Given the description of an element on the screen output the (x, y) to click on. 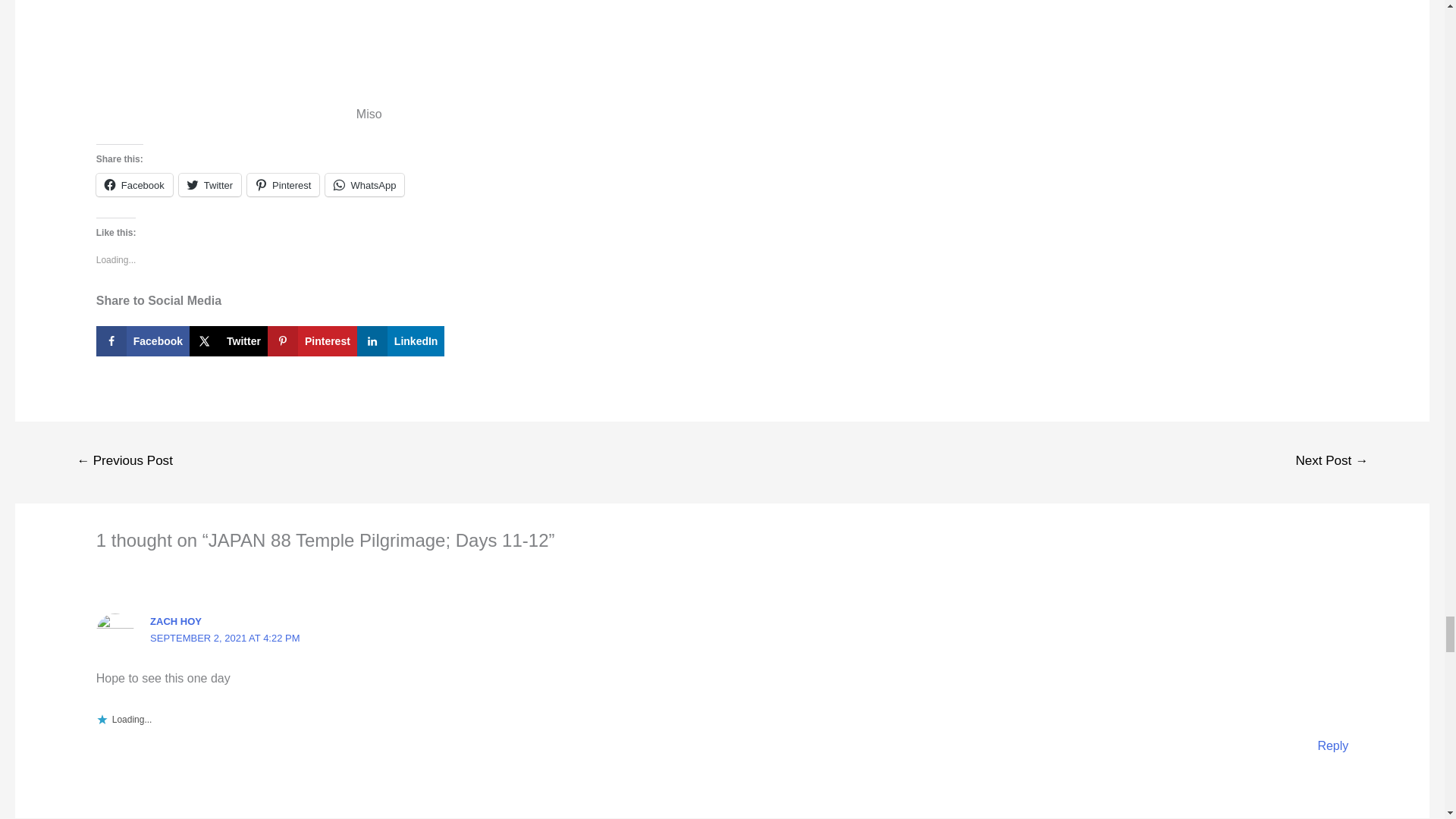
Click to share on Facebook (134, 184)
Save to Pinterest (311, 340)
Share on Facebook (142, 340)
Share on LinkedIn (400, 340)
Click to share on WhatsApp (364, 184)
Click to share on Twitter (210, 184)
Click to share on Pinterest (282, 184)
Share on X (228, 340)
